Given the description of an element on the screen output the (x, y) to click on. 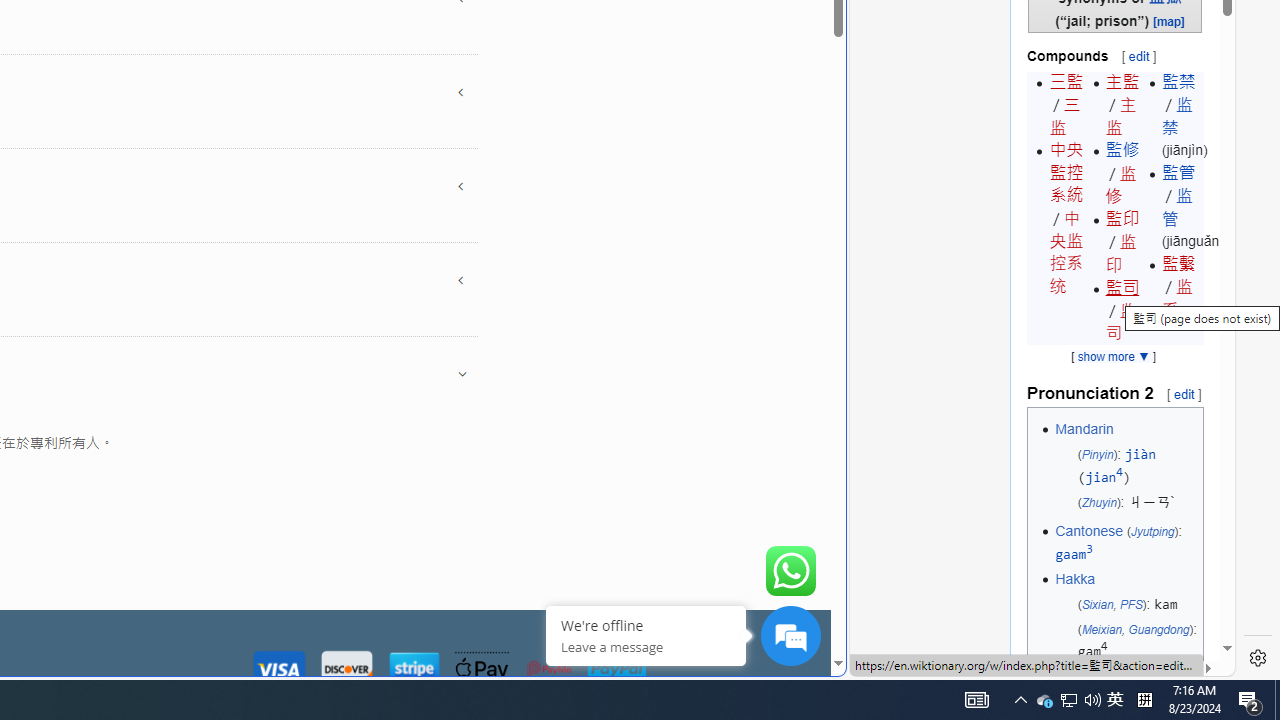
Meixian (1101, 628)
Settings (1258, 658)
